Given the description of an element on the screen output the (x, y) to click on. 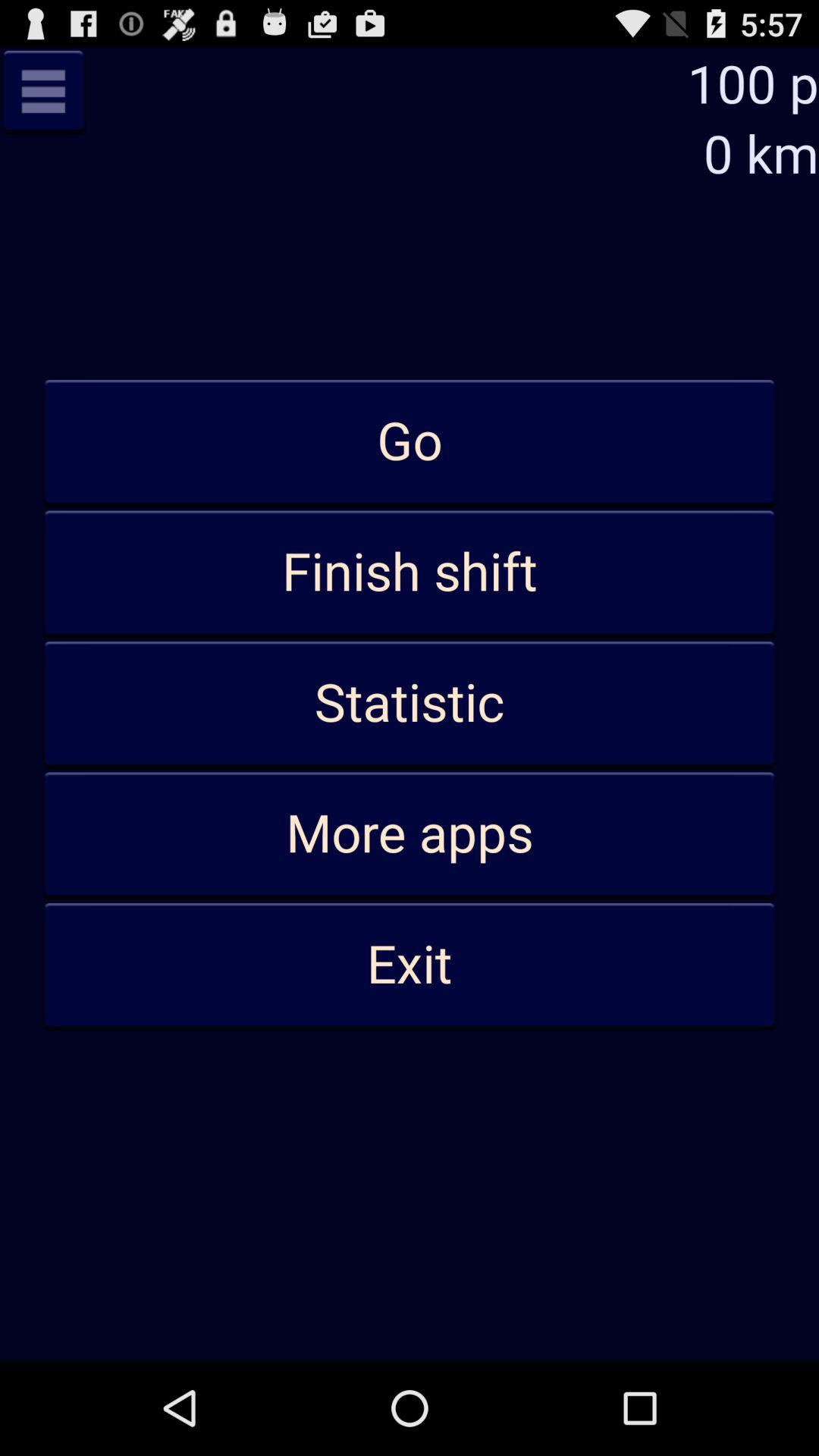
turn off item above exit (409, 834)
